Given the description of an element on the screen output the (x, y) to click on. 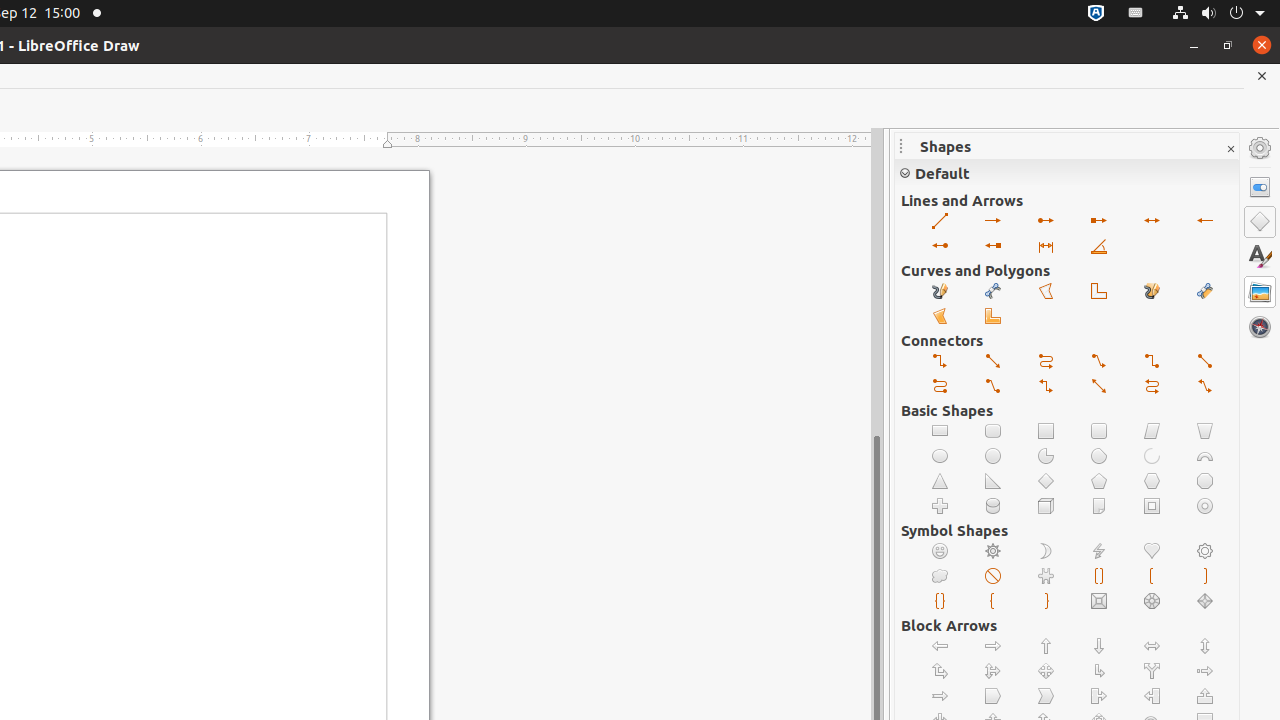
Octagon Bevel Element type: list-item (1152, 601)
Up, Right and Down Arrow Element type: list-item (993, 671)
Curved Connector with Arrows Element type: list-item (1152, 386)
Line Starts with Arrow Element type: list-item (1205, 221)
Styles Element type: radio-button (1260, 256)
